Given the description of an element on the screen output the (x, y) to click on. 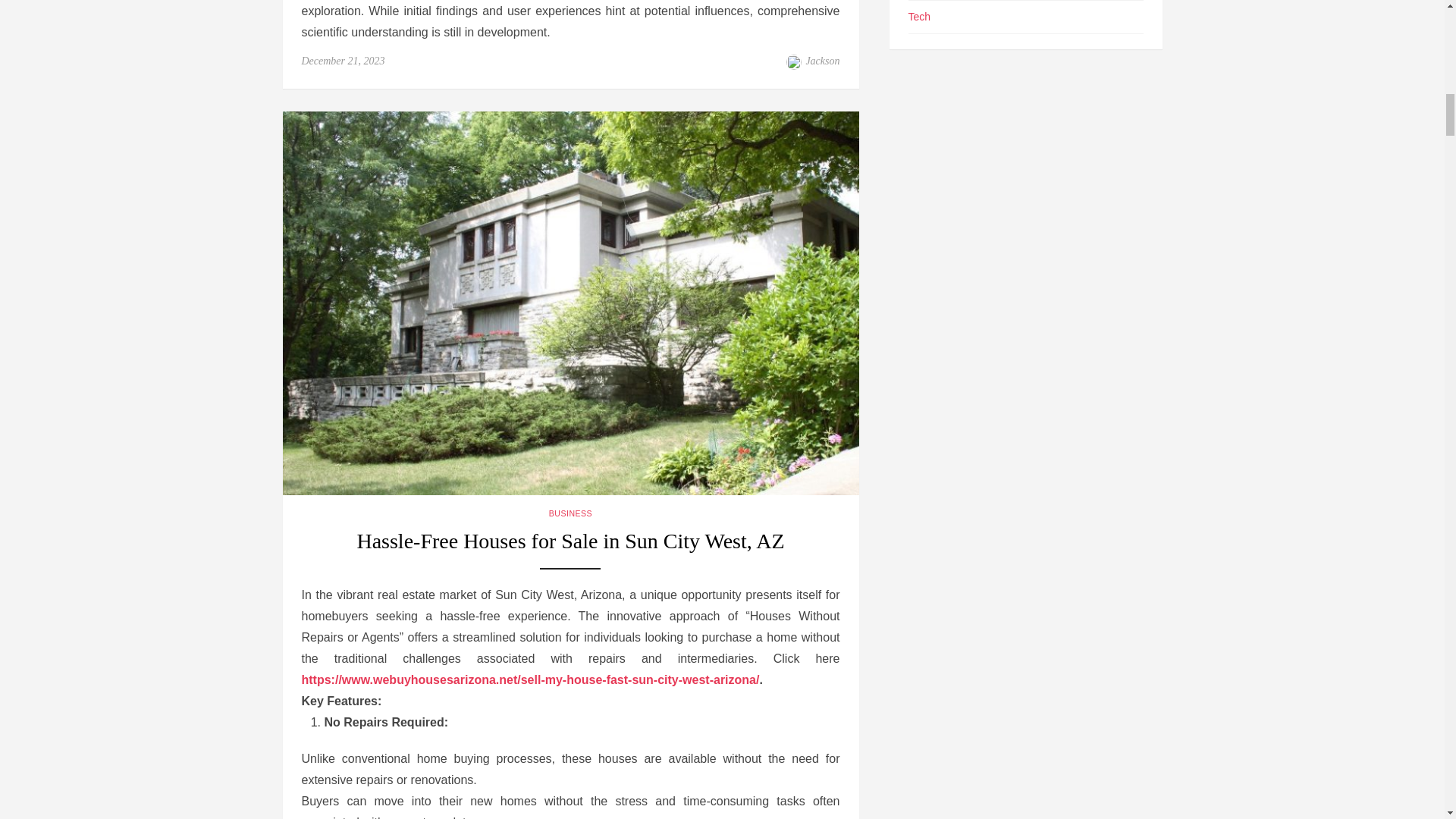
Hassle-Free Houses for Sale in Sun City West, AZ (570, 548)
BUSINESS (570, 512)
Jackson (822, 60)
December 21, 2023 (343, 60)
